Given the description of an element on the screen output the (x, y) to click on. 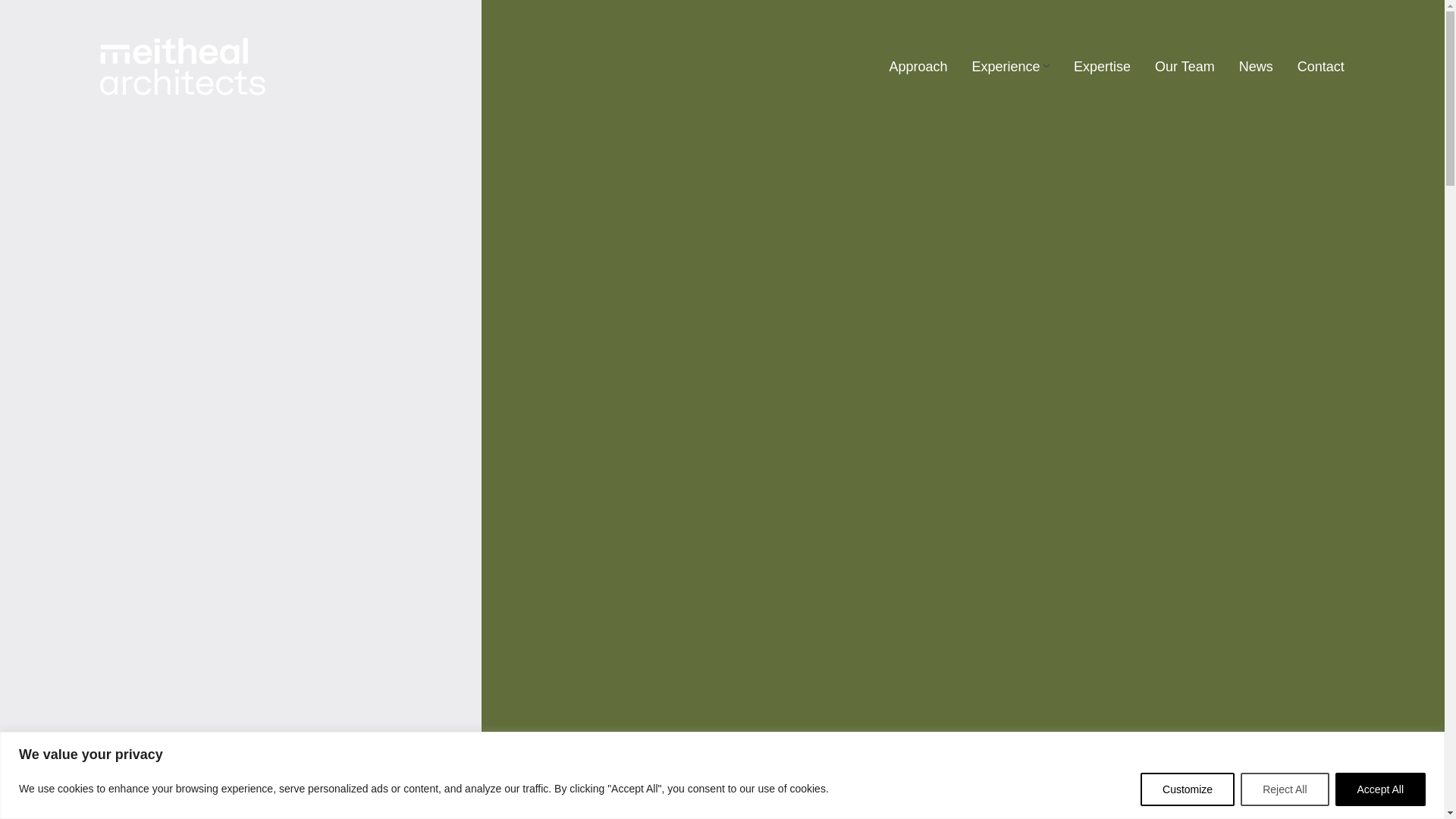
Expertise (1102, 66)
Approach (917, 66)
Our Team (1184, 66)
Experience (1006, 66)
Accept All (1380, 788)
News (1255, 66)
Customize (1187, 788)
Reject All (1283, 788)
Contact (1320, 66)
